Given the description of an element on the screen output the (x, y) to click on. 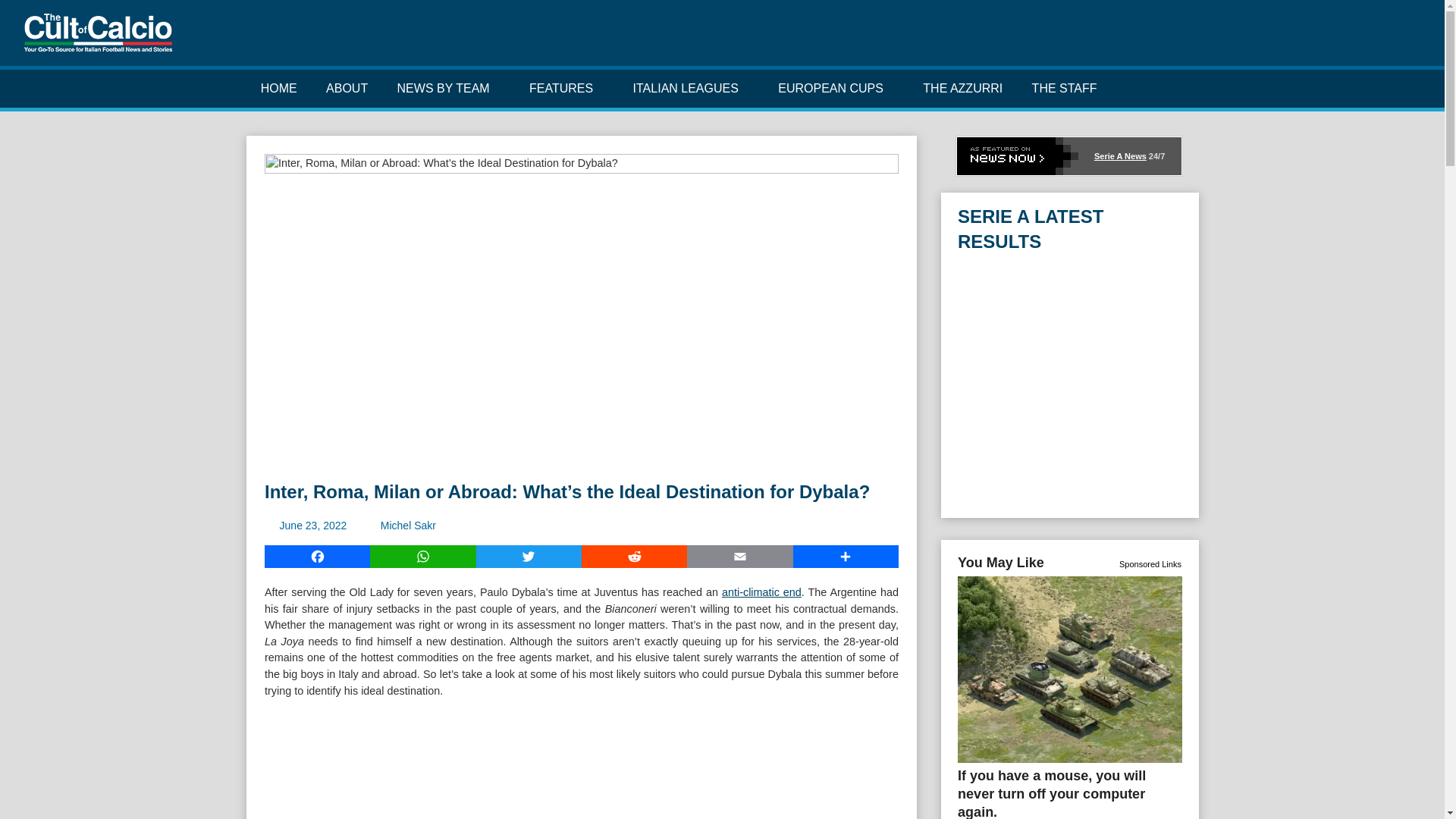
NEWS BY TEAM (447, 88)
ABOUT (346, 88)
Facebook (1315, 39)
View all posts by Michel Sakr (407, 525)
Instagram (1363, 39)
YouTube (1386, 39)
Facebook (316, 556)
WhatsApp (422, 556)
Twitter (528, 556)
9:00 pm (313, 525)
Reddit (633, 556)
EUROPEAN CUPS (835, 88)
ITALIAN LEAGUES (689, 88)
RSS Feed (1409, 39)
Twitter (1339, 39)
